Given the description of an element on the screen output the (x, y) to click on. 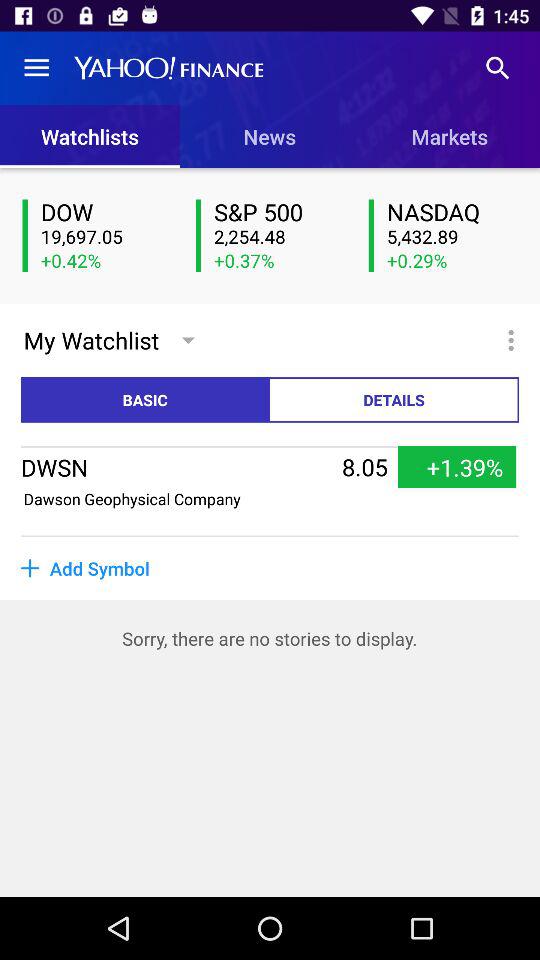
click the item below the dwsn item (131, 498)
